Given the description of an element on the screen output the (x, y) to click on. 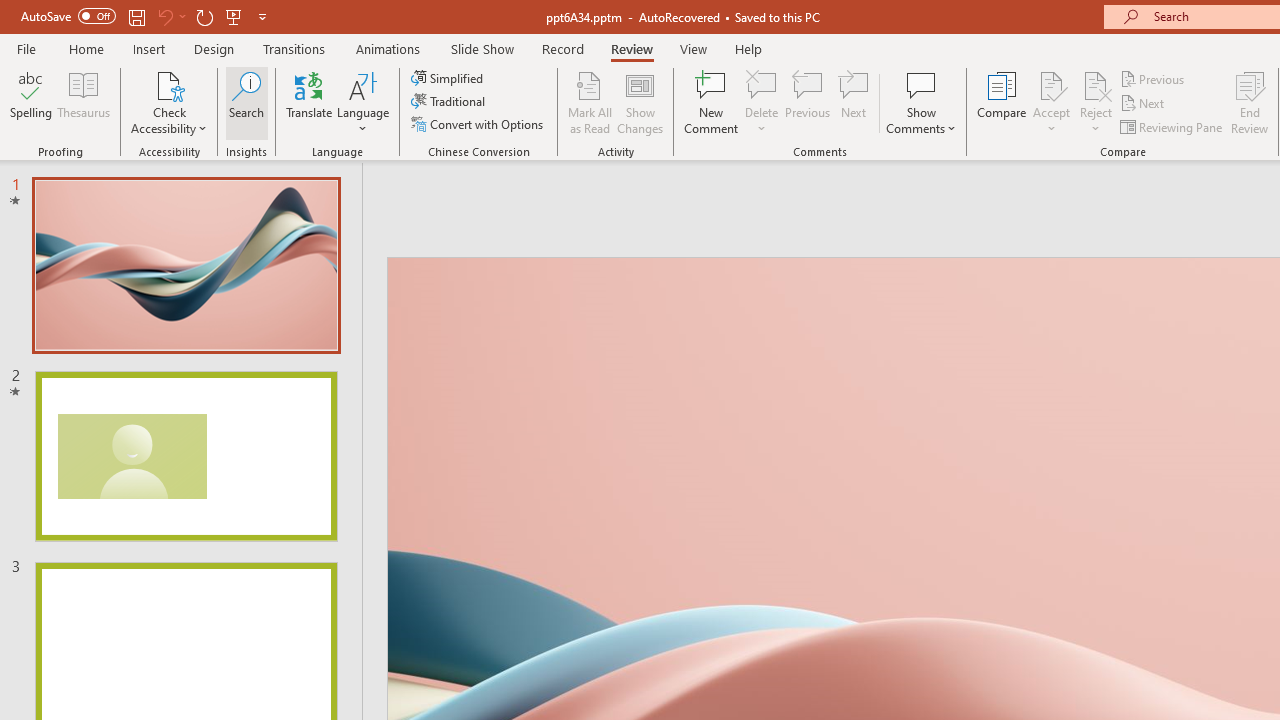
Delete (762, 102)
Accept (1051, 102)
